Given the description of an element on the screen output the (x, y) to click on. 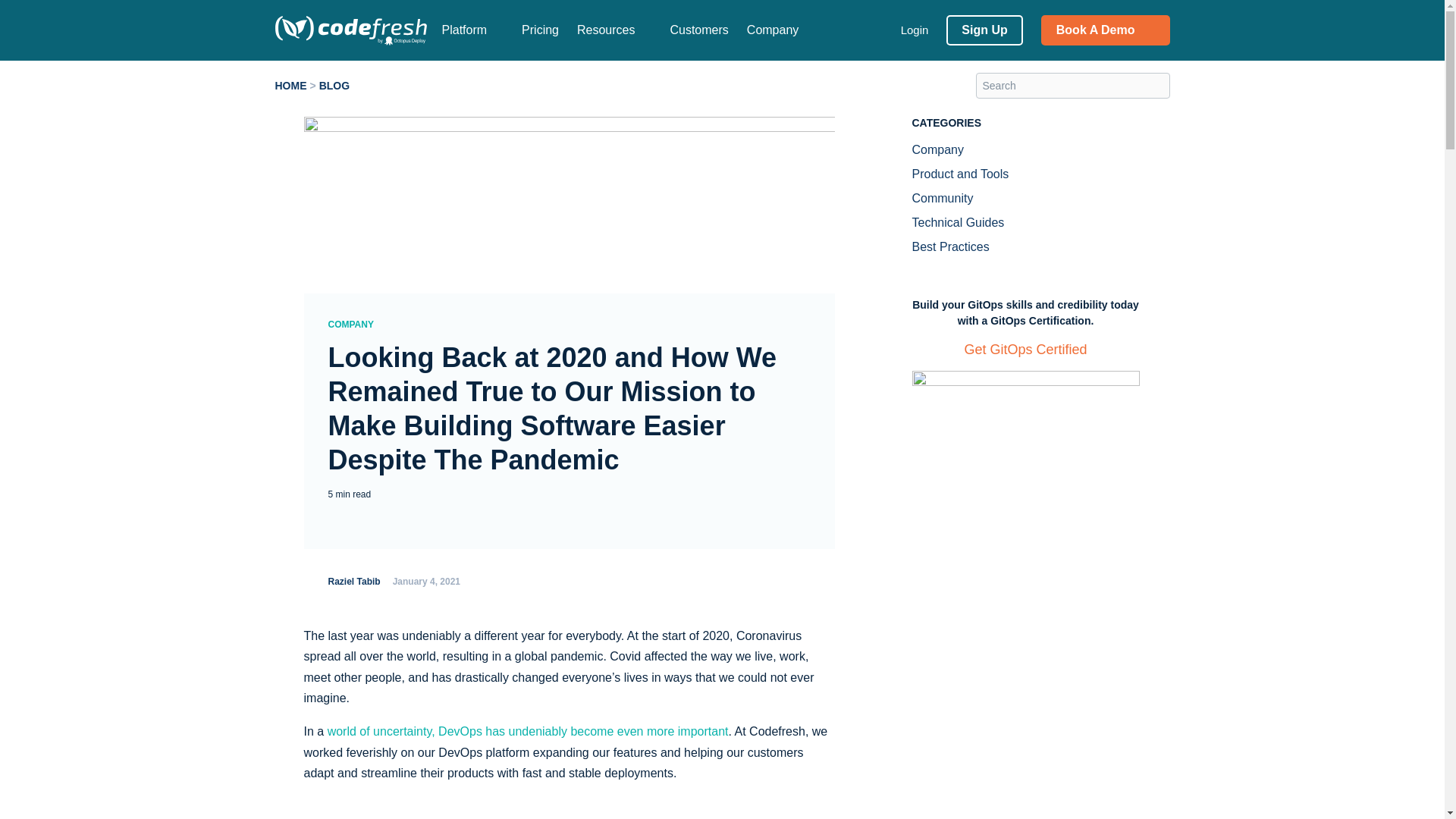
Pricing (540, 30)
Login (914, 29)
Company (771, 30)
Customers (698, 30)
